Given the description of an element on the screen output the (x, y) to click on. 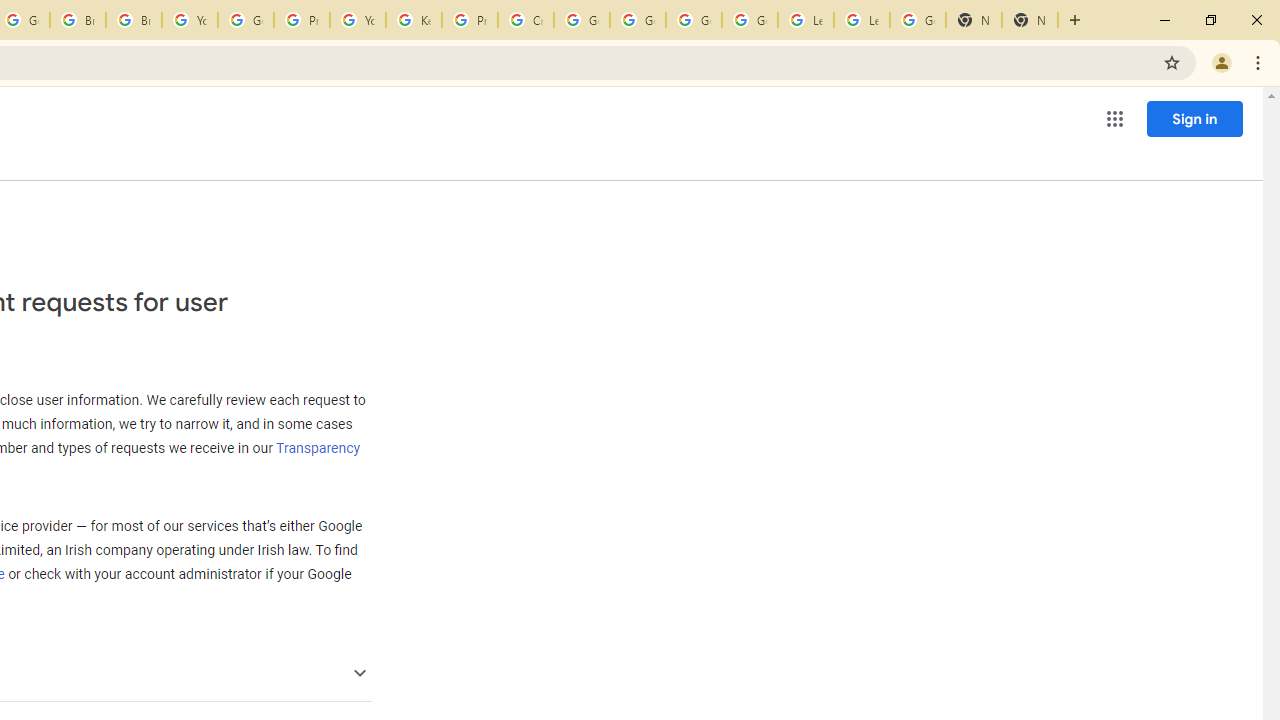
Create your Google Account (525, 20)
Brand Resource Center (77, 20)
Google Account Help (582, 20)
YouTube (358, 20)
Google Account Help (693, 20)
Google Account Help (637, 20)
